Given the description of an element on the screen output the (x, y) to click on. 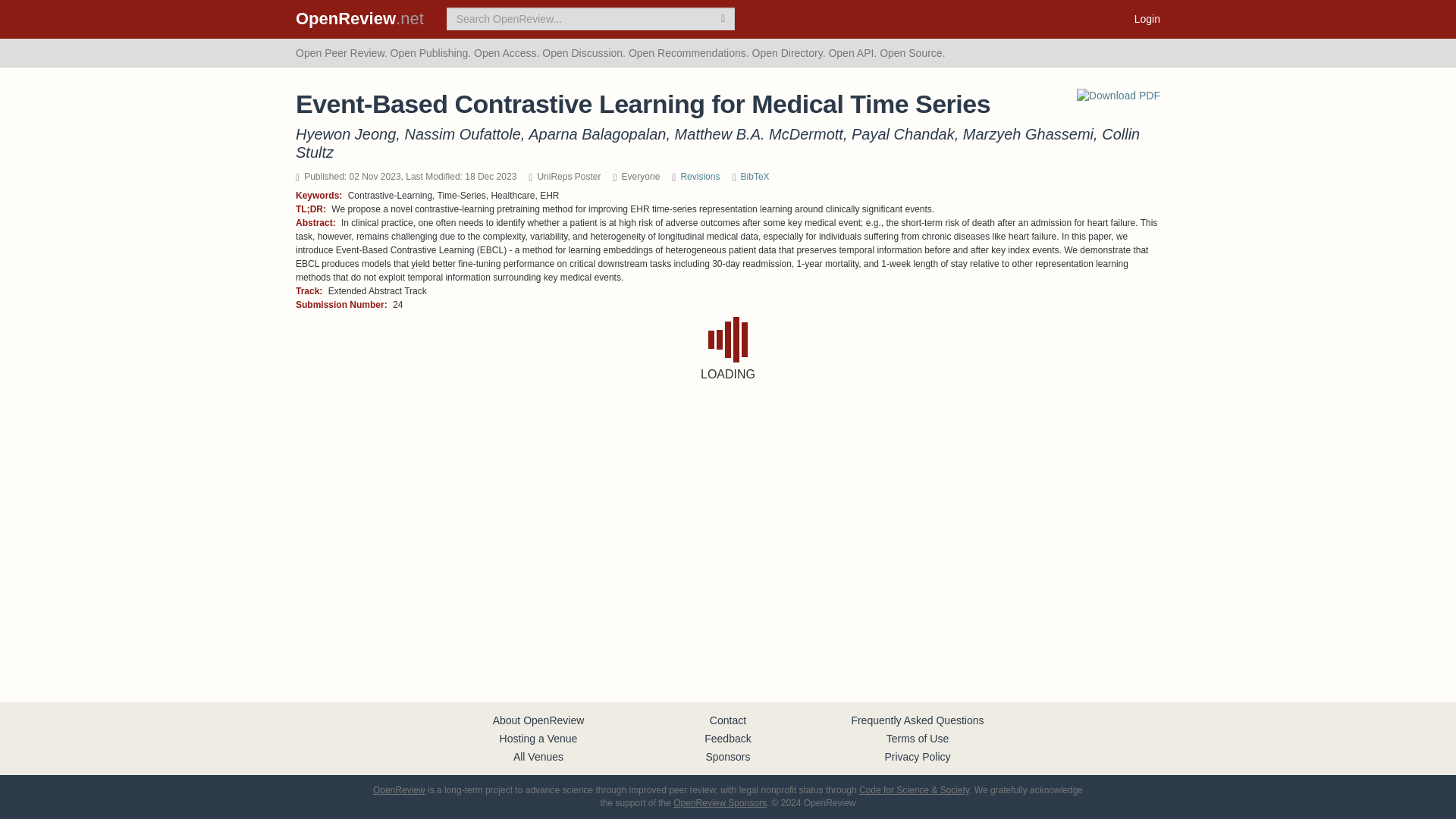
Login (1147, 18)
Aparna Balagopalan (596, 134)
OpenReview Sponsors (719, 802)
Hyewon Jeong (345, 134)
All Venues (538, 756)
OpenReview (398, 789)
Payal Chandak (903, 134)
Download PDF (1118, 96)
Nassim Oufattole (461, 134)
About OpenReview (539, 720)
BibTeX (755, 176)
Hosting a Venue (538, 738)
OpenReview.net (359, 18)
Collin Stultz (717, 143)
Frequently Asked Questions (917, 720)
